Given the description of an element on the screen output the (x, y) to click on. 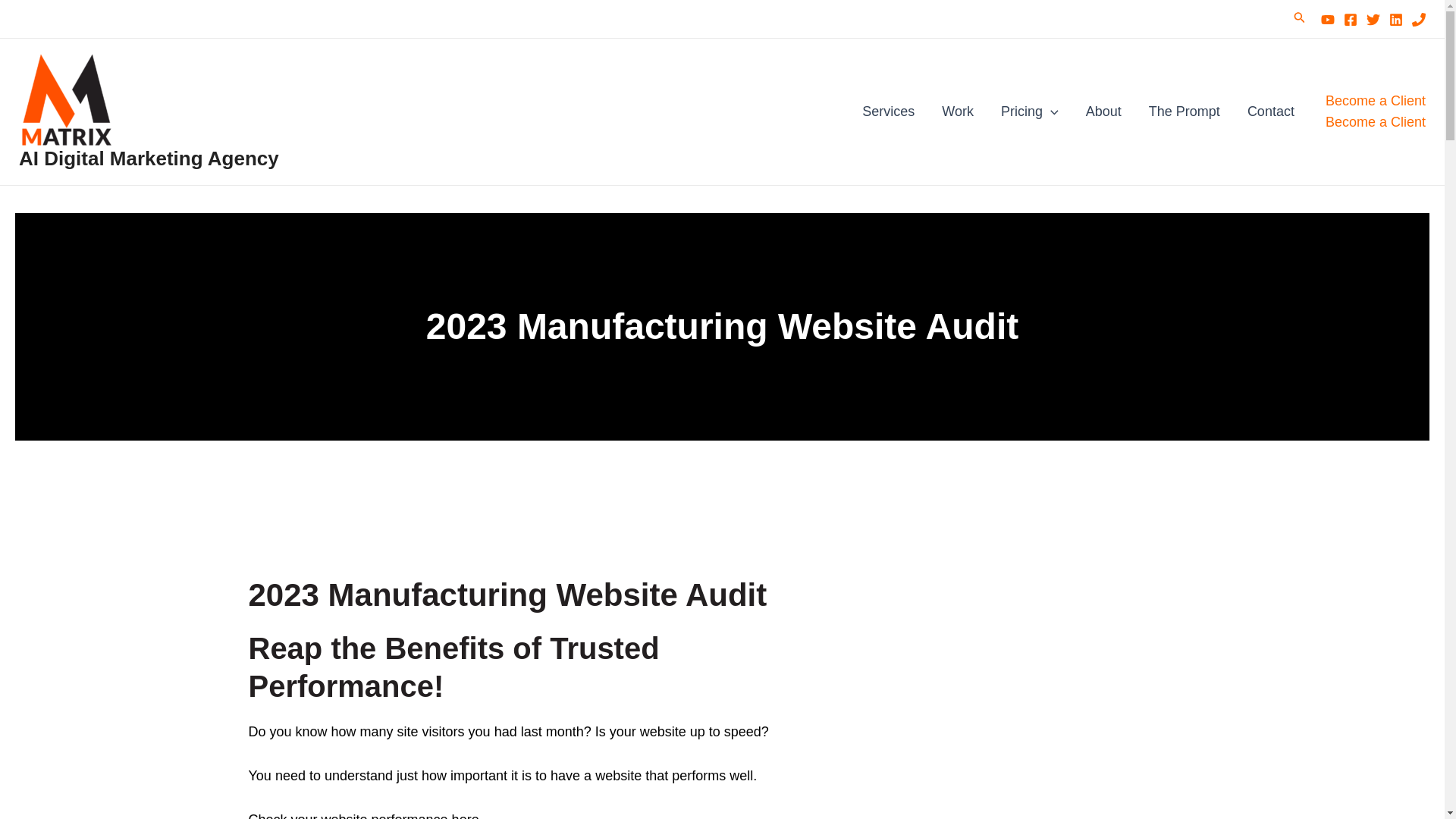
Become a Client (1374, 121)
Work (957, 111)
Services (888, 111)
Pricing (1029, 111)
Become a Client (1374, 110)
About (1103, 111)
The Prompt (1184, 111)
Contact (1270, 111)
AI Digital Marketing Agency (148, 158)
